Given the description of an element on the screen output the (x, y) to click on. 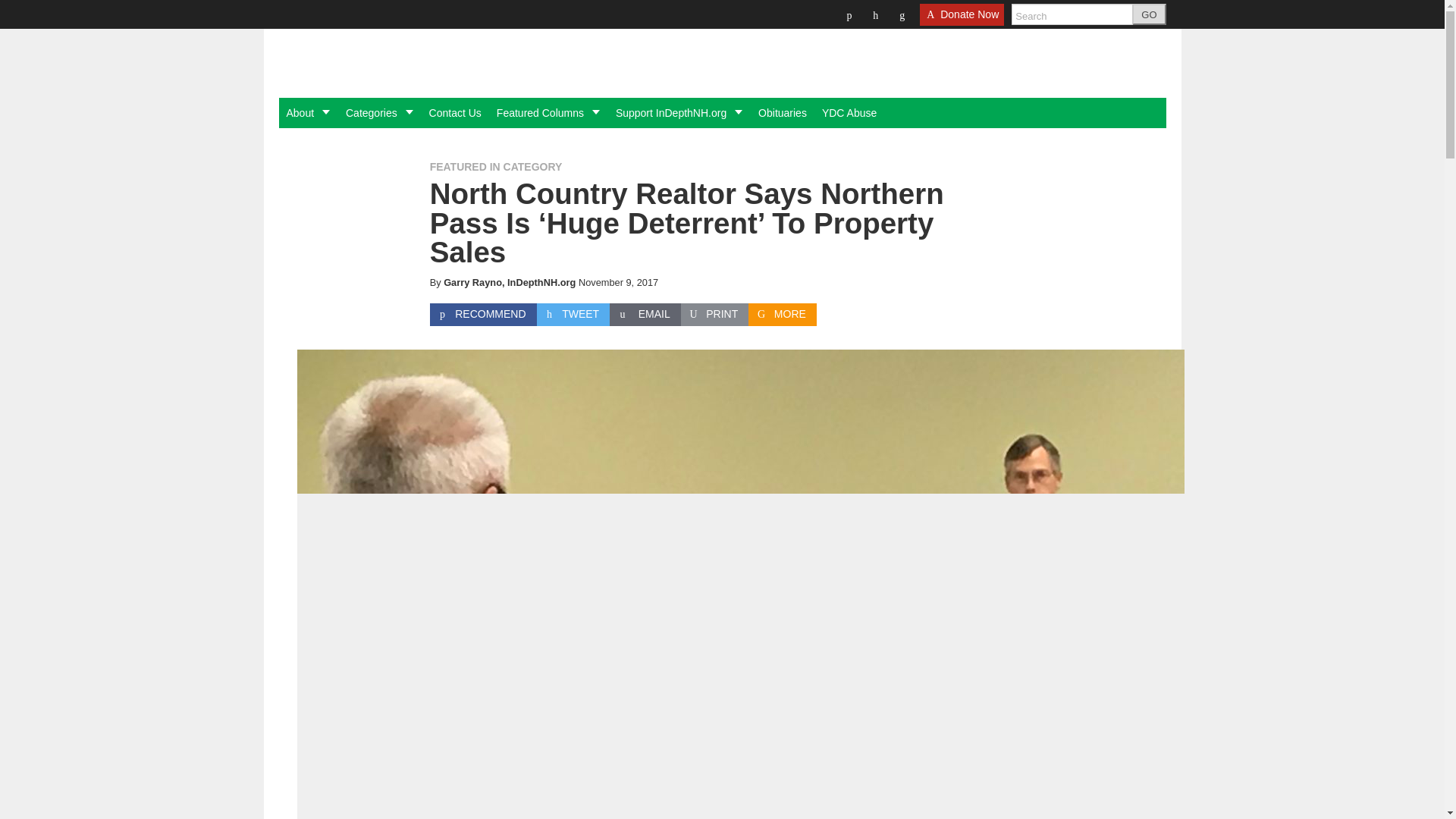
About InDepthNH.org (308, 112)
Donate Now (962, 19)
Categories (379, 112)
GO (1149, 14)
